Given the description of an element on the screen output the (x, y) to click on. 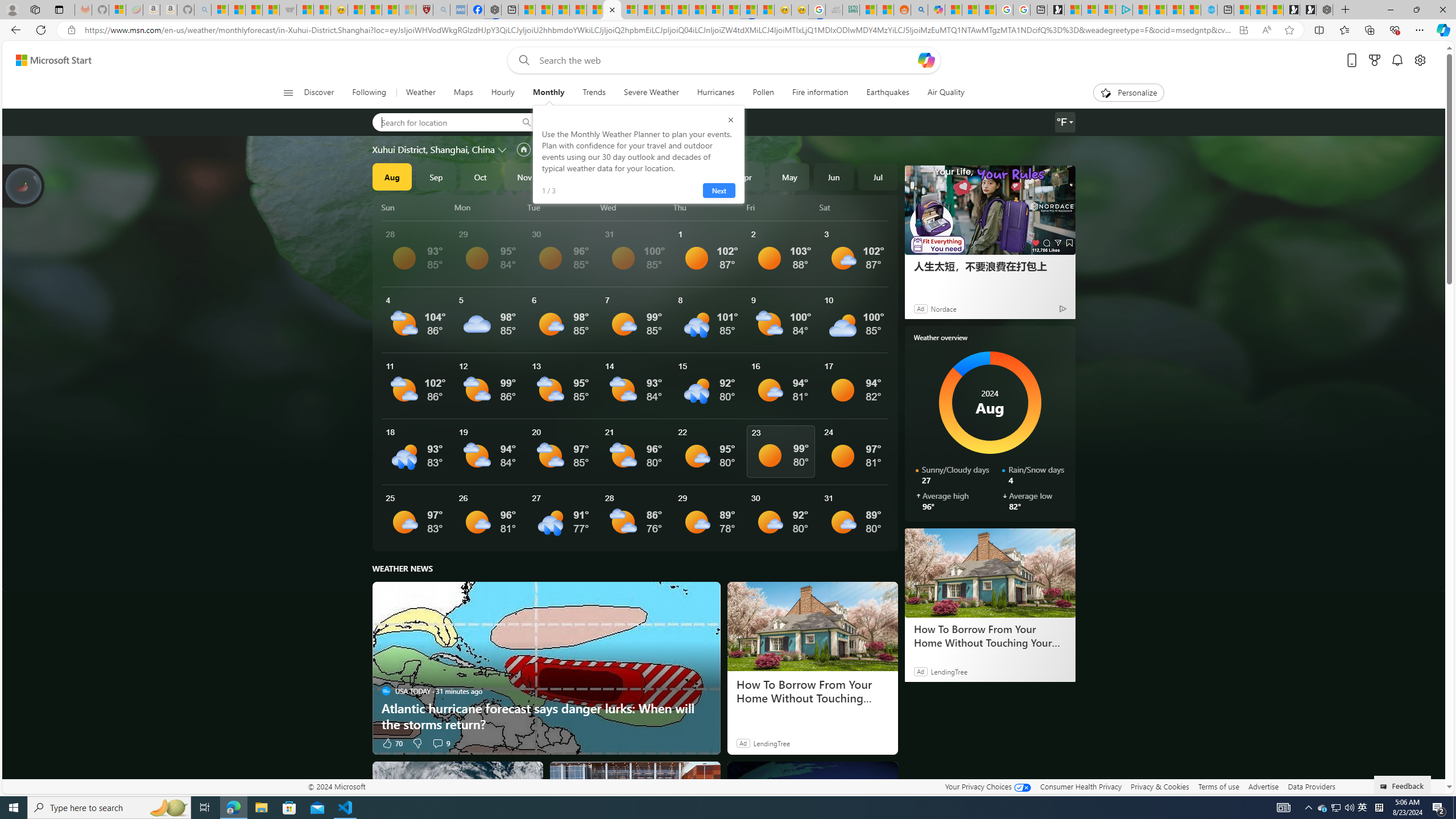
Apr (745, 176)
App available. Install Microsoft Start Weather (1243, 29)
Terms of use (1218, 785)
Severe Weather (651, 92)
Trends (593, 92)
